Given the description of an element on the screen output the (x, y) to click on. 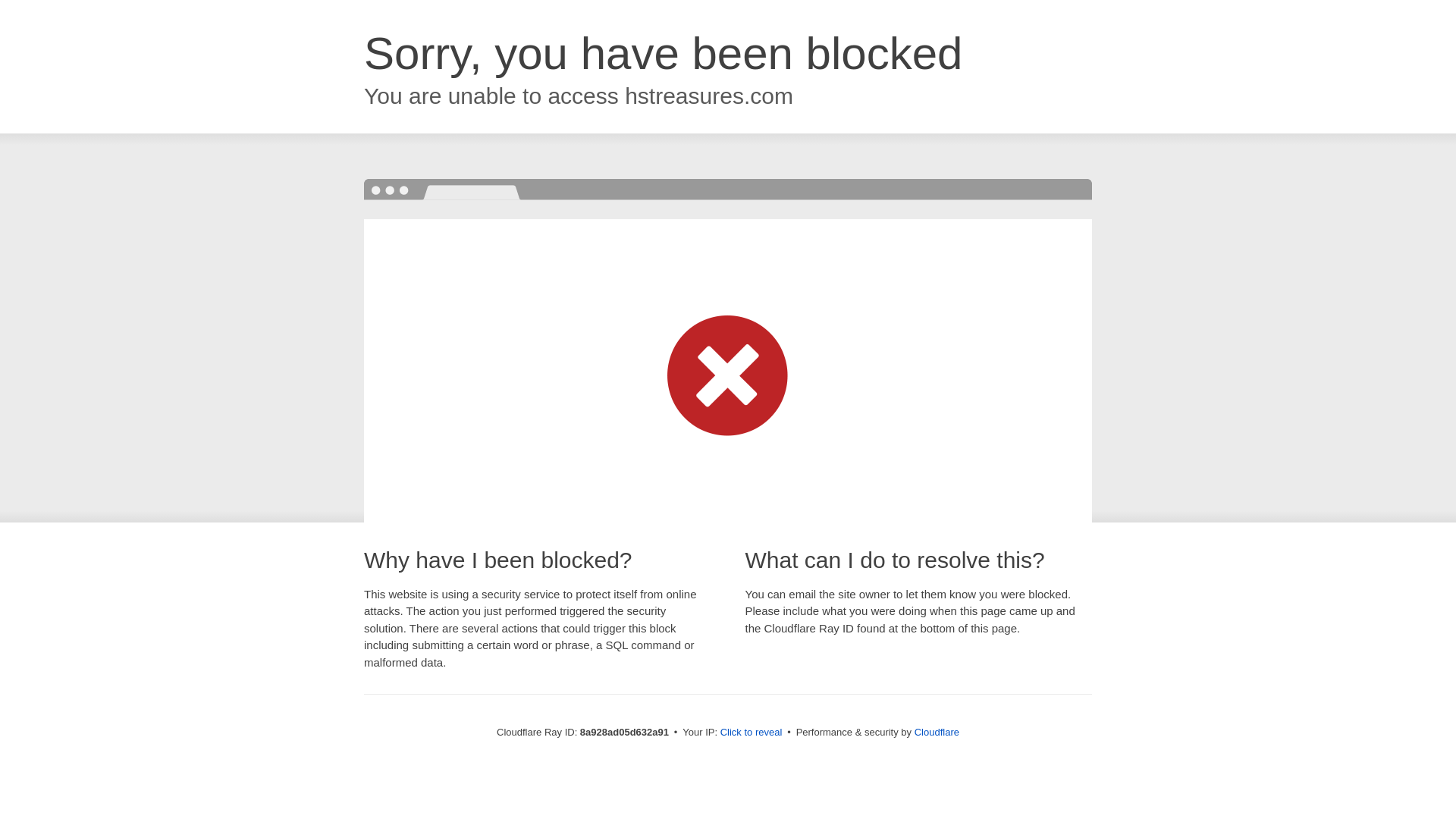
Cloudflare (936, 731)
Click to reveal (751, 732)
